Given the description of an element on the screen output the (x, y) to click on. 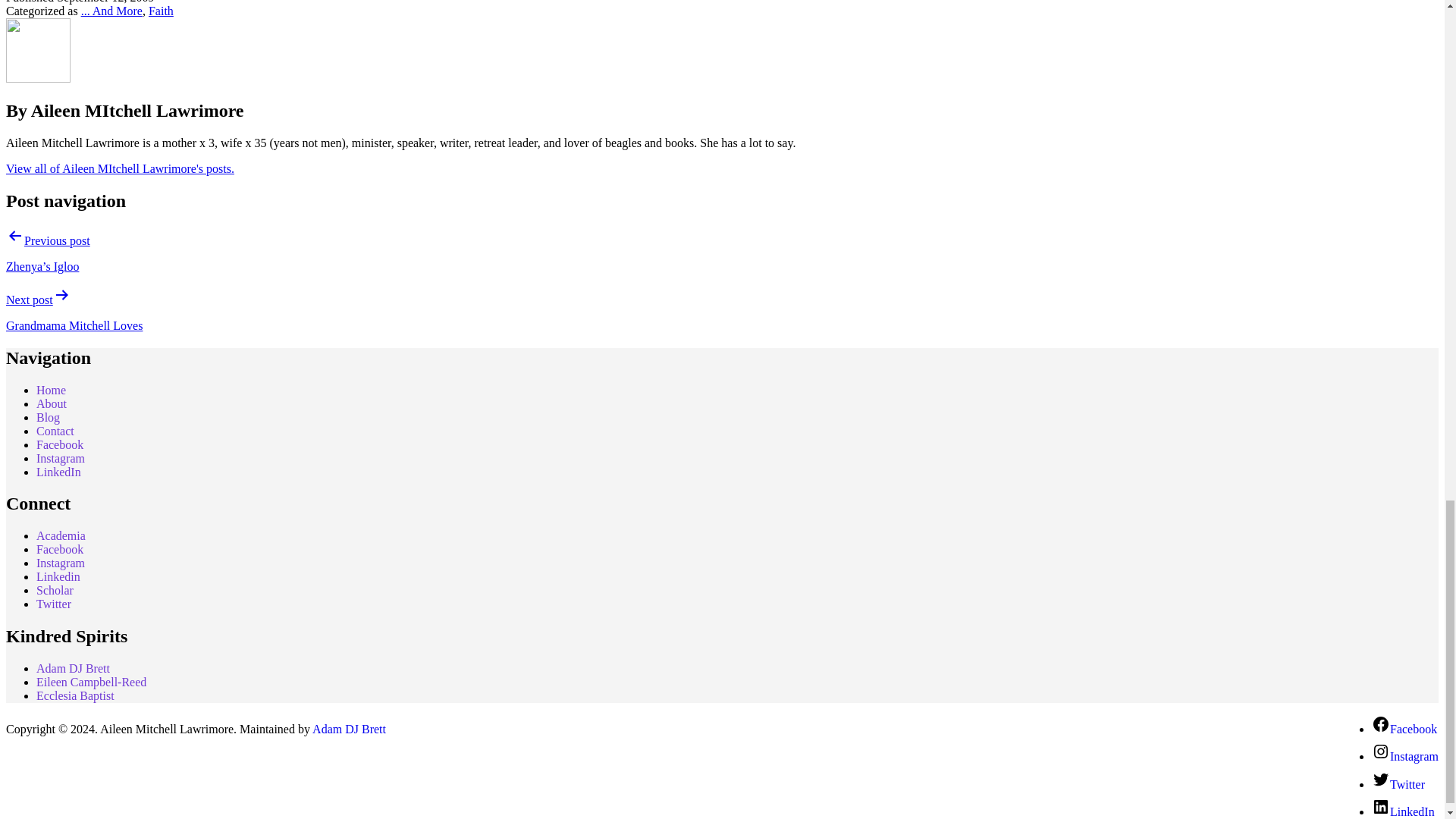
Contact (55, 431)
Facebook (59, 444)
LinkedIn (58, 472)
View all of Aileen MItchell Lawrimore's posts. (119, 168)
... And More (111, 10)
Home (50, 390)
About (51, 403)
Instagram (60, 562)
Faith (160, 10)
Academia (60, 535)
